Given the description of an element on the screen output the (x, y) to click on. 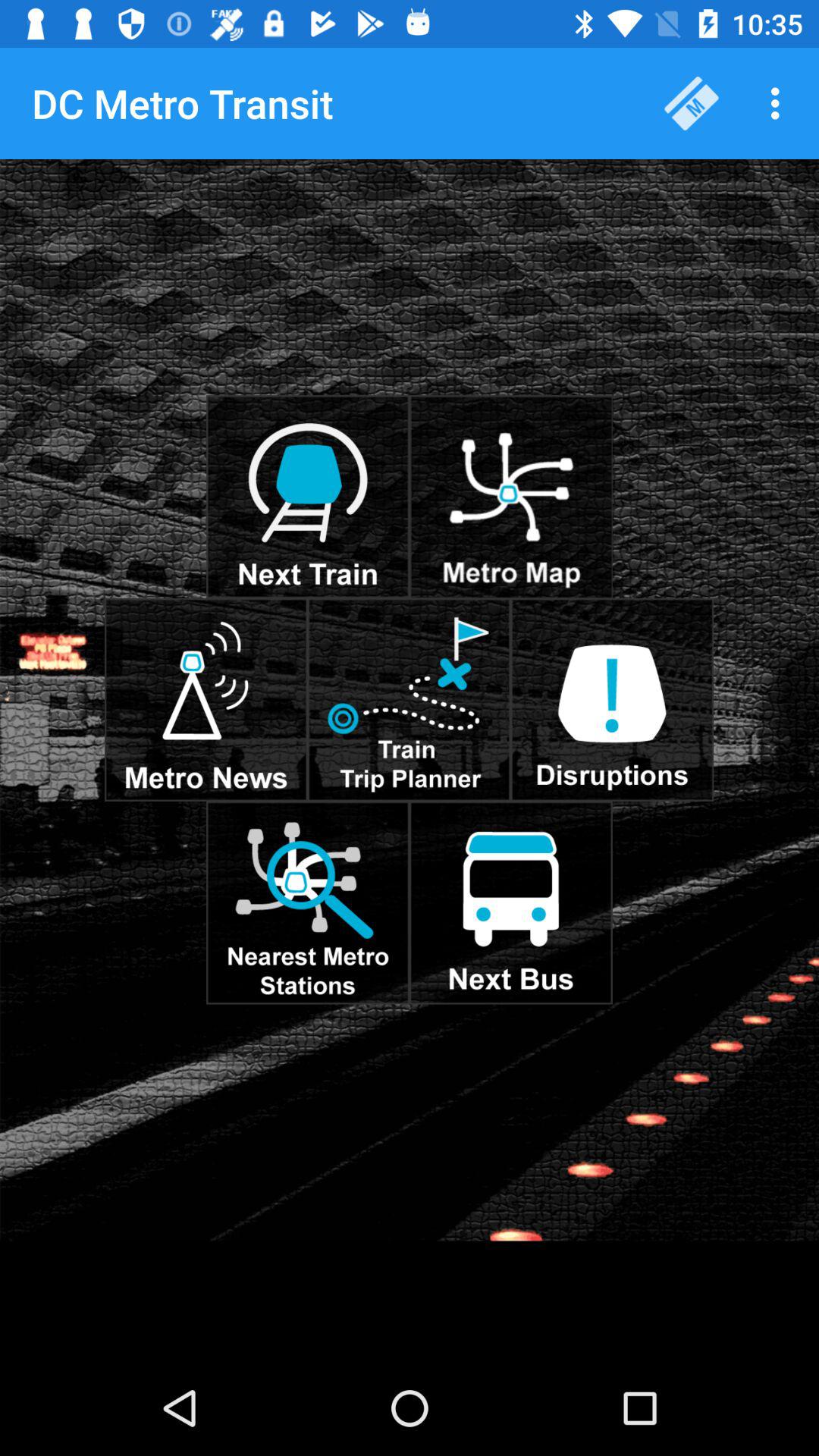
metro bus service disruptions (611, 699)
